Given the description of an element on the screen output the (x, y) to click on. 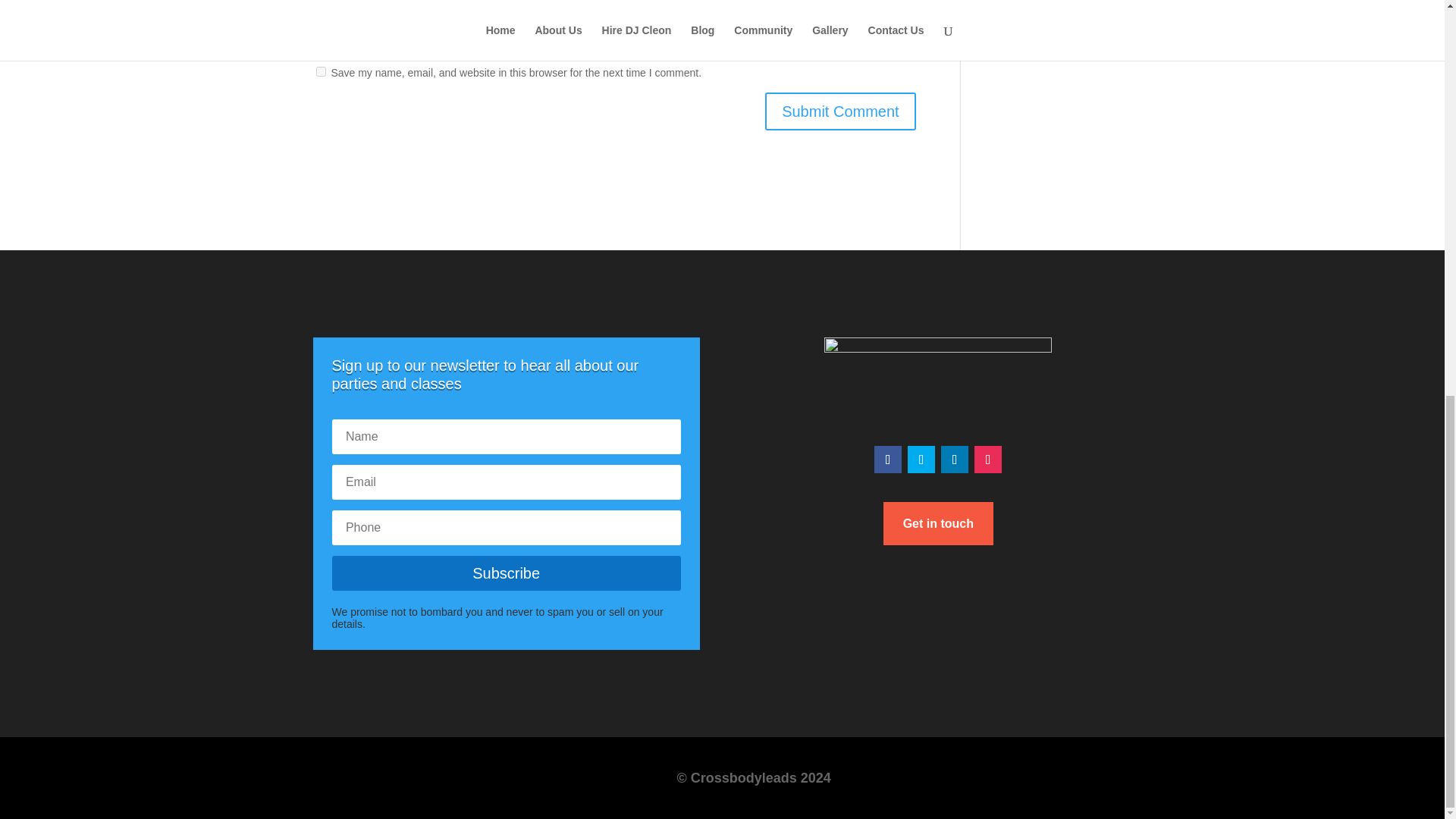
yes (319, 71)
Follow on Instagram (987, 459)
Submit Comment (840, 111)
Submit Comment (840, 111)
Get in touch (937, 523)
Follow on Facebook (888, 459)
Follow on LinkedIn (954, 459)
Salsa logo CBL (937, 380)
Subscribe (506, 573)
Cleon (997, 9)
Follow on Twitter (920, 459)
We are making Plans (1079, 9)
